Given the description of an element on the screen output the (x, y) to click on. 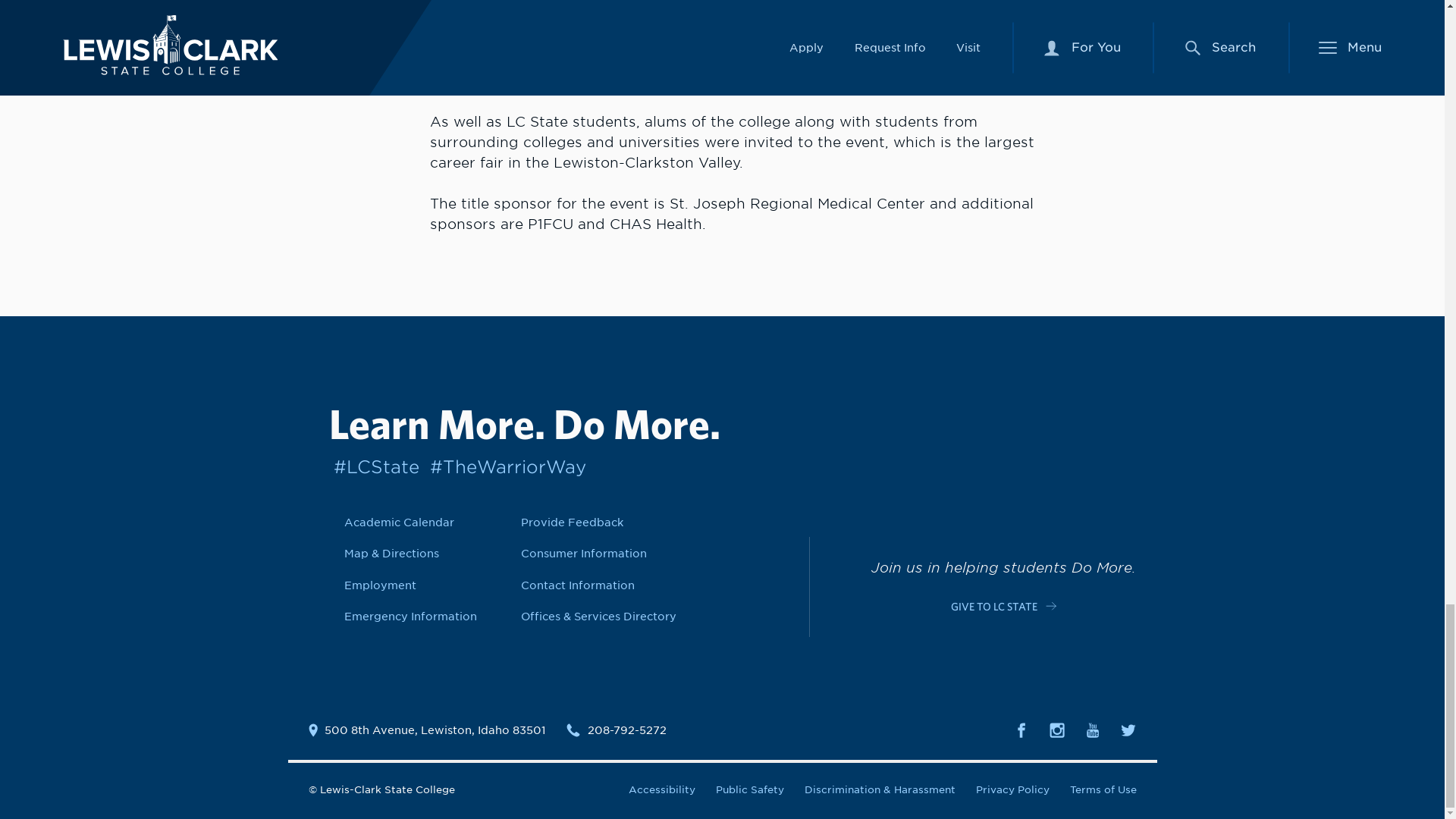
youtube--solid (1092, 729)
ARROW-RIGHT--LINE (1051, 605)
instagram--solid (1056, 729)
twitter--solid (1128, 729)
calls--solid (572, 730)
facebook--solid (1020, 729)
